Given the description of an element on the screen output the (x, y) to click on. 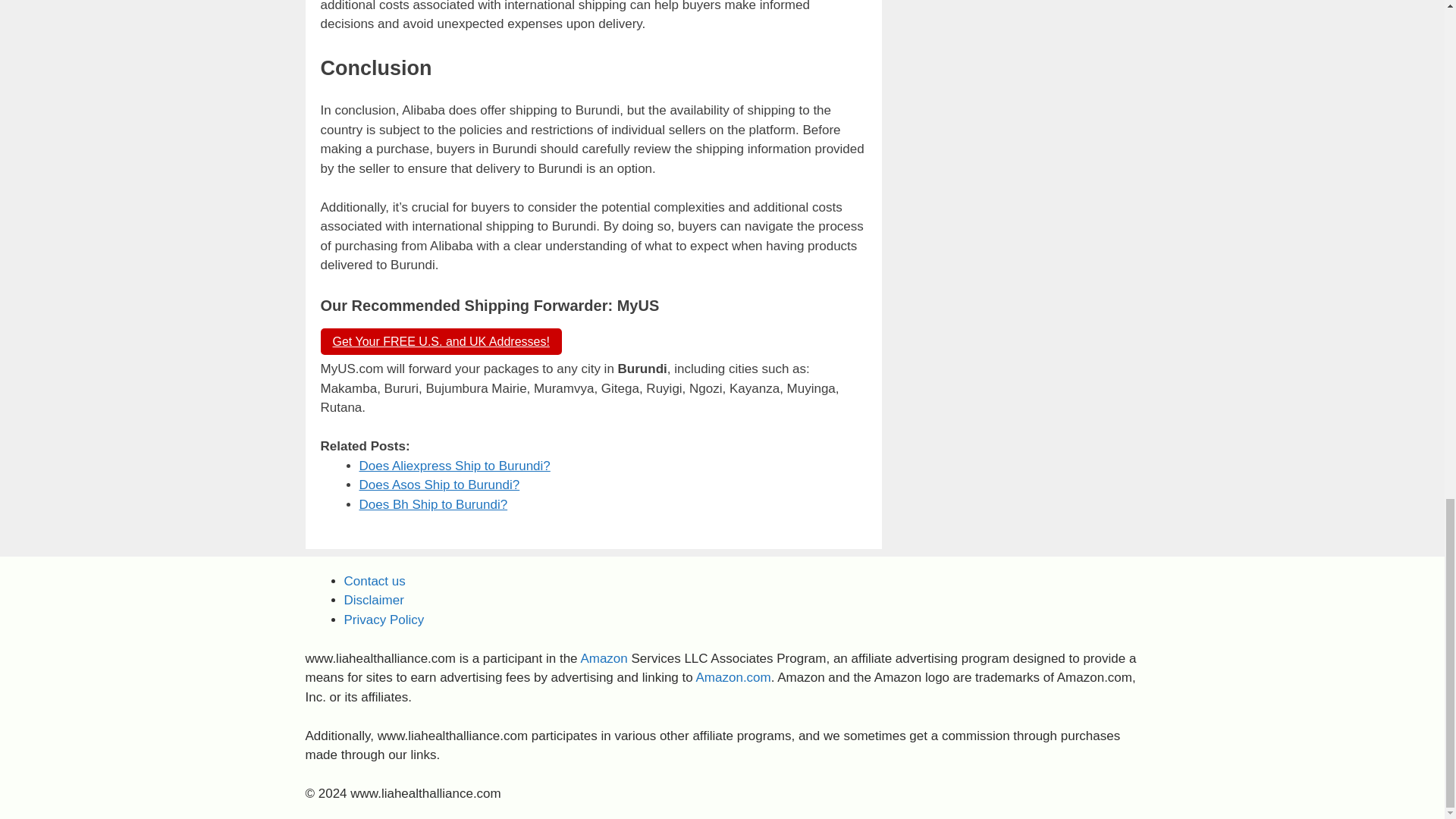
Contact us (374, 581)
Does Aliexpress Ship to Burundi? (454, 465)
Privacy Policy (384, 619)
Disclaimer (373, 599)
Does Asos Ship to Burundi? (439, 484)
Does Bh Ship to Burundi? (433, 504)
Amazon.com (733, 677)
Get Your FREE U.S. and UK Addresses! (440, 341)
Amazon (603, 658)
